Given the description of an element on the screen output the (x, y) to click on. 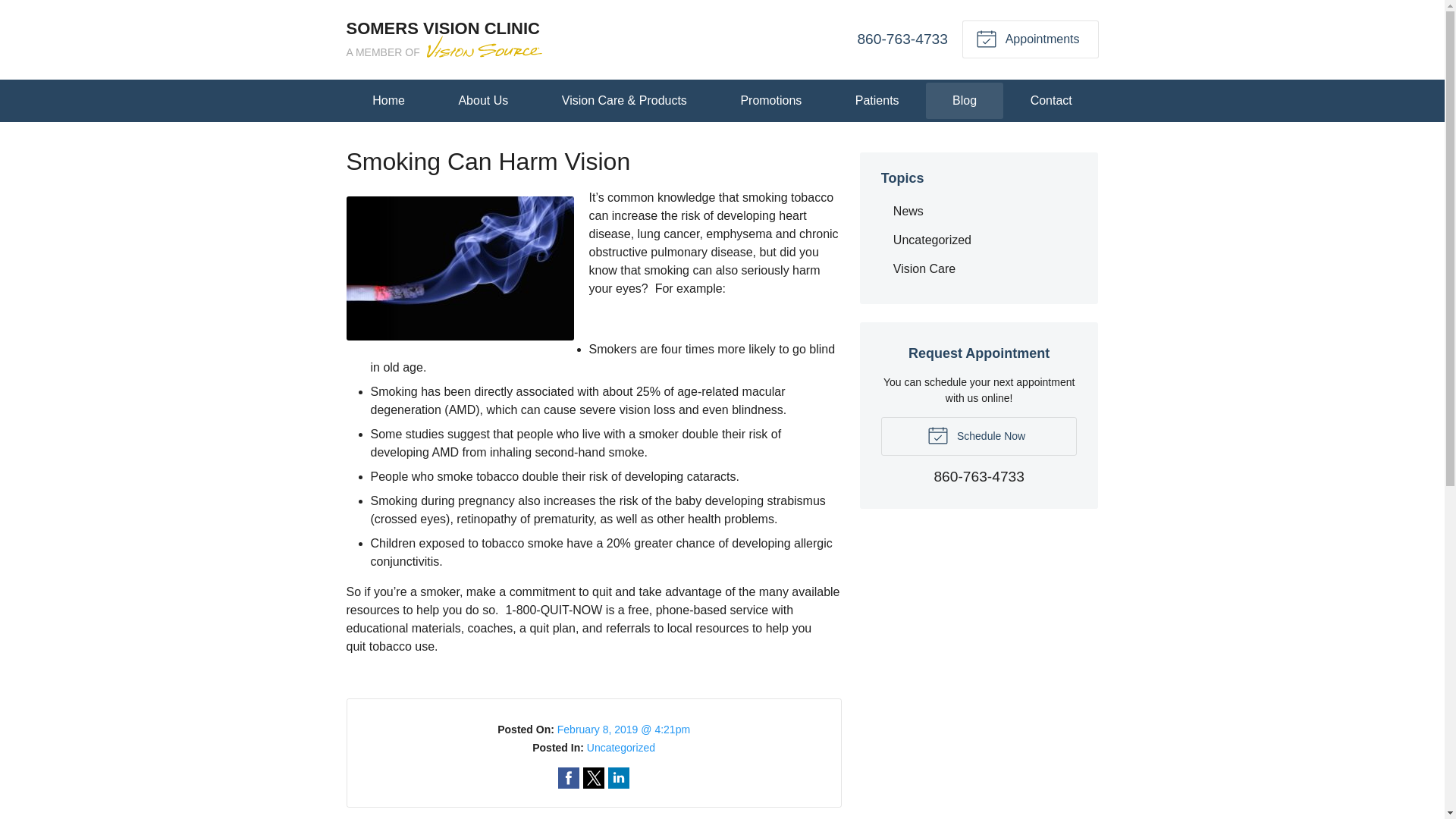
Uncategorized (978, 239)
Contact (1051, 100)
Appointments (1029, 39)
Home (388, 100)
Share on Twitter (593, 777)
Schedule Now (978, 435)
Promotions (771, 100)
Somers Vision Clinic (445, 39)
860-763-4733 (902, 38)
860-763-4733 (979, 477)
Share on Facebook (568, 777)
Call practice (979, 477)
Blog (964, 100)
Patients (876, 100)
Share on Facebook (568, 777)
